Given the description of an element on the screen output the (x, y) to click on. 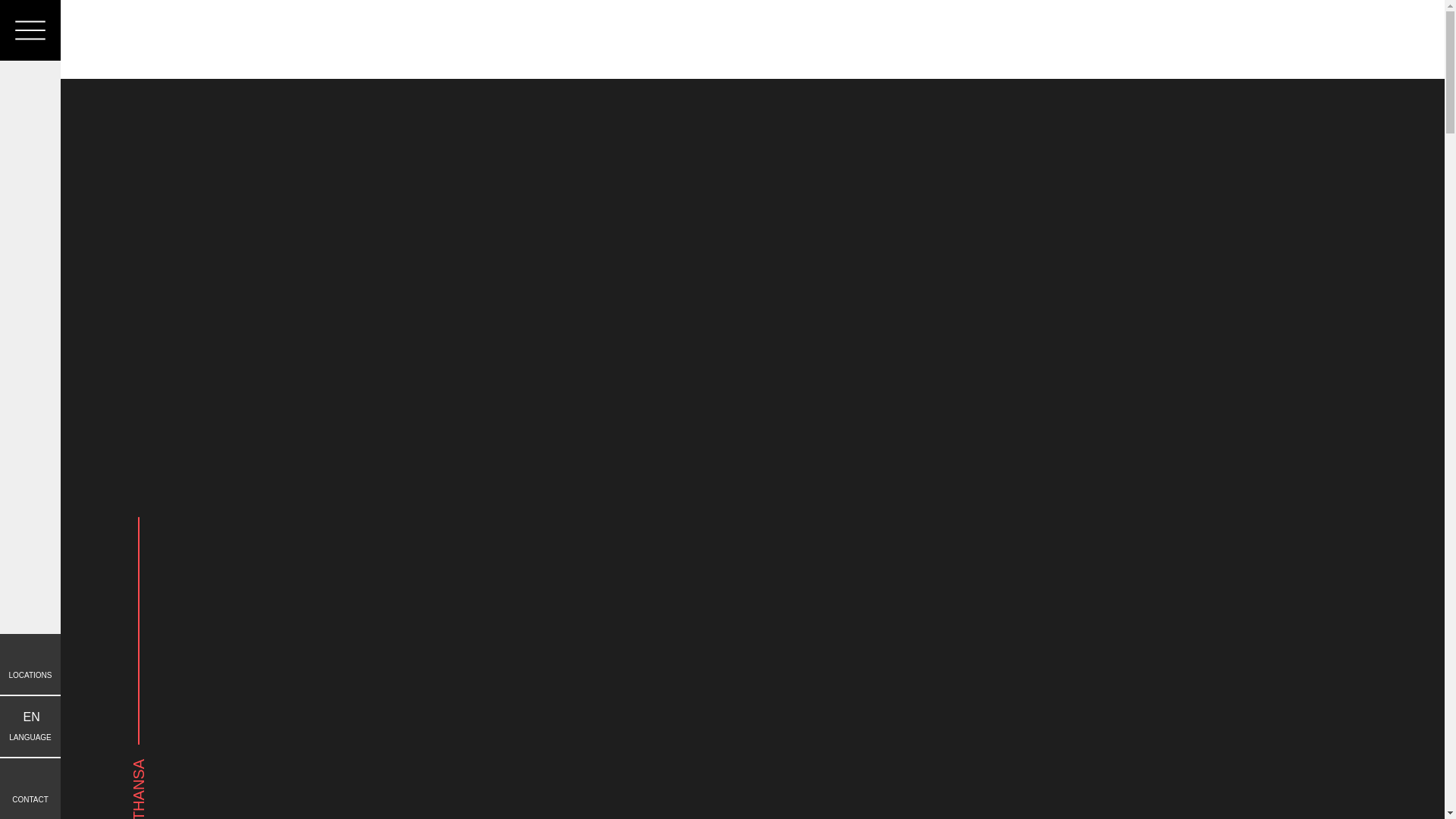
LOCATIONS (30, 726)
CONTACT (30, 663)
